Given the description of an element on the screen output the (x, y) to click on. 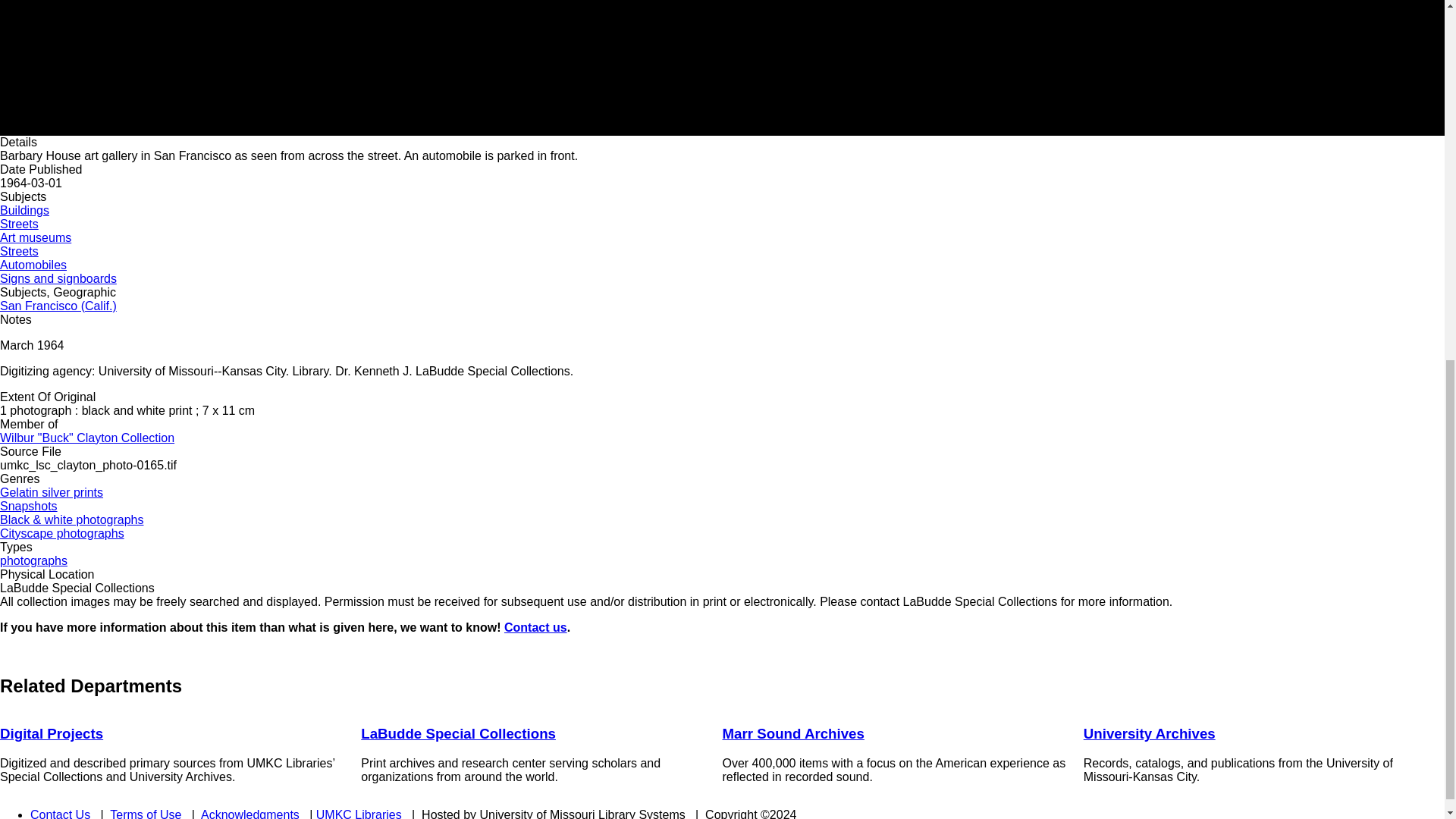
Signs and signboards (58, 278)
Streets (19, 250)
photographs (33, 560)
Digital Projects (51, 733)
LaBudde Special Collections (458, 733)
Wilbur "Buck" Clayton Collection (87, 437)
Marr Sound Archives (792, 733)
Automobiles (33, 264)
Contact us (535, 626)
University Archives (1149, 733)
